Given the description of an element on the screen output the (x, y) to click on. 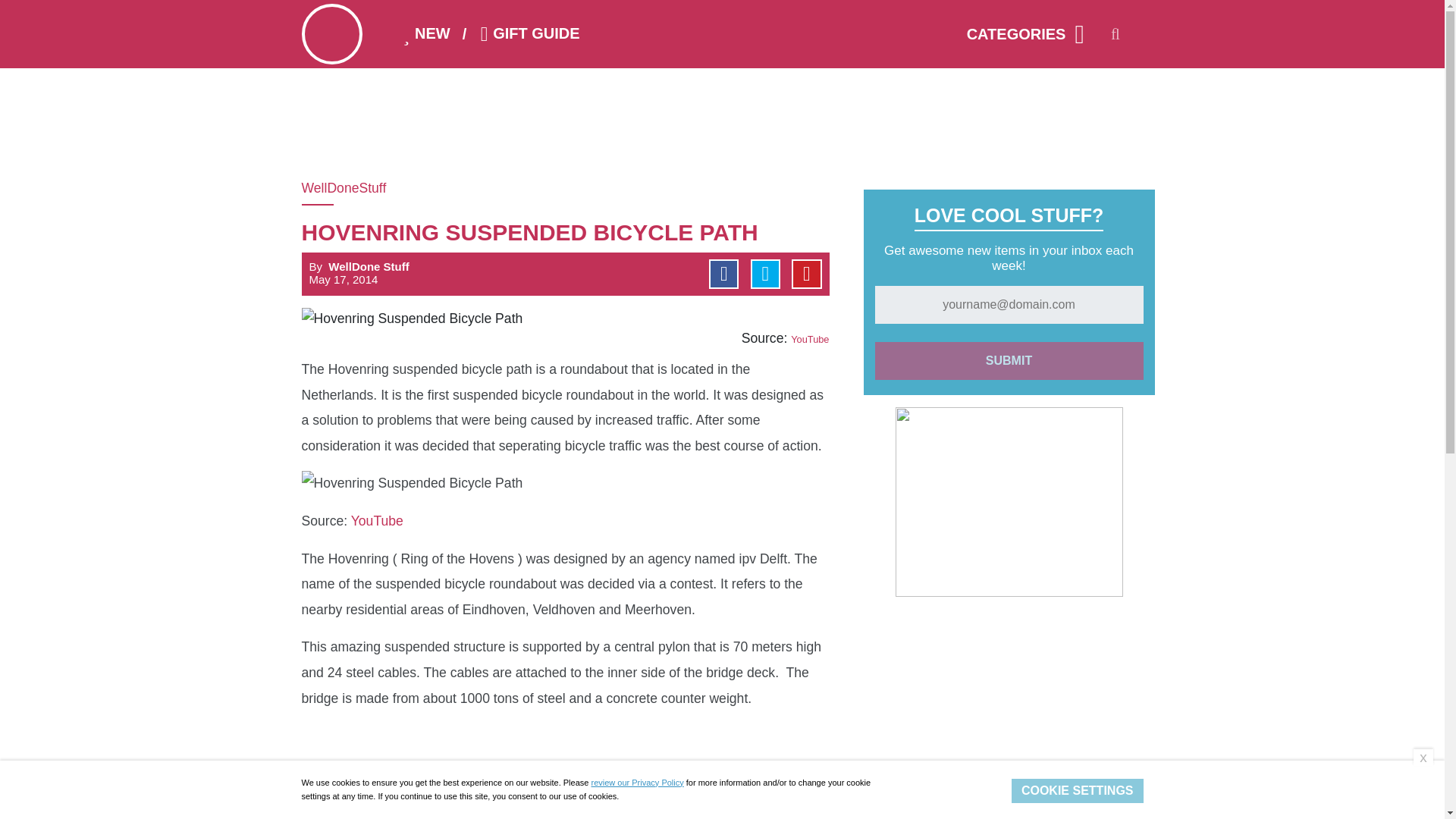
WellDoneStuff (360, 188)
 GIFT GUIDE (526, 33)
 NEW (423, 33)
YouTube (376, 520)
CATEGORIES (1017, 34)
Submit (1008, 361)
Submit (1008, 361)
YouTube (809, 338)
